Given the description of an element on the screen output the (x, y) to click on. 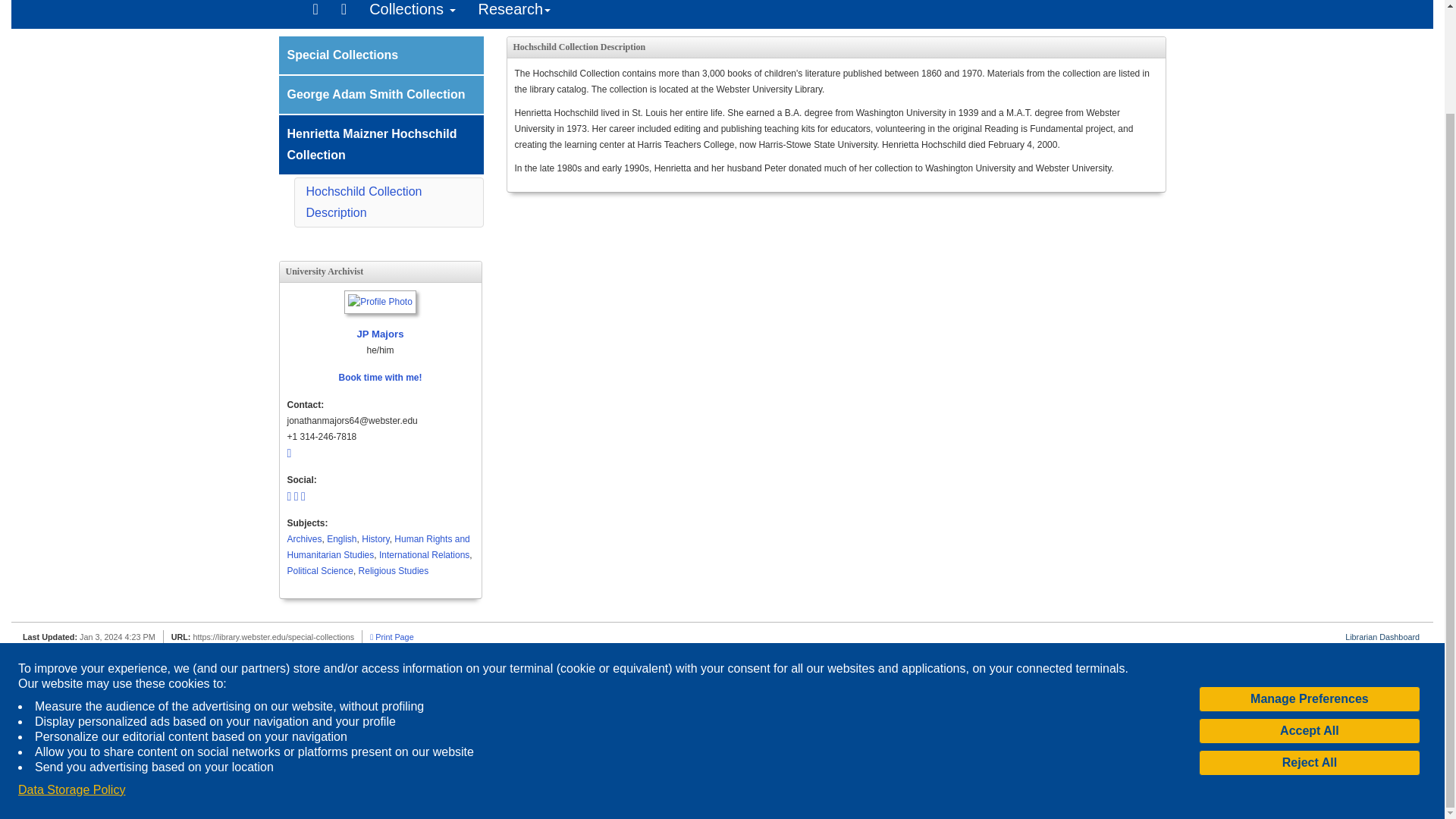
Reject All (1309, 642)
Research (514, 13)
Book time with me! (379, 377)
George Adam Smith Collection (381, 94)
JP Majors (379, 316)
Collections (411, 13)
Hochschild Collection Description (363, 202)
Henrietta Maizner Hochschild Collection (381, 144)
Data Storage Policy (71, 669)
Library Home (344, 13)
